Given the description of an element on the screen output the (x, y) to click on. 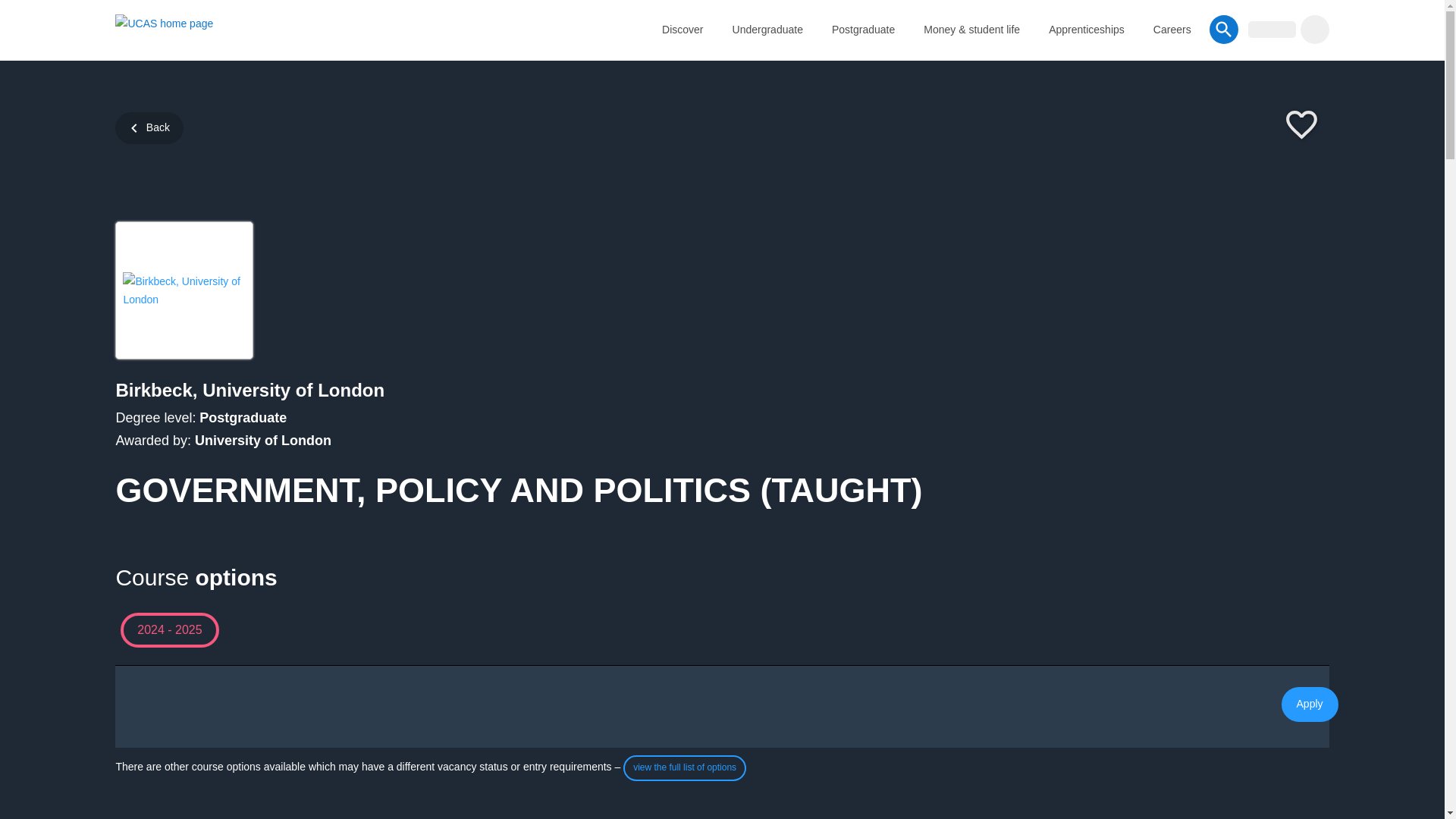
Back to previous page (149, 128)
Undergraduate (767, 29)
Discover (682, 29)
Add option to favourites (1301, 125)
